Given the description of an element on the screen output the (x, y) to click on. 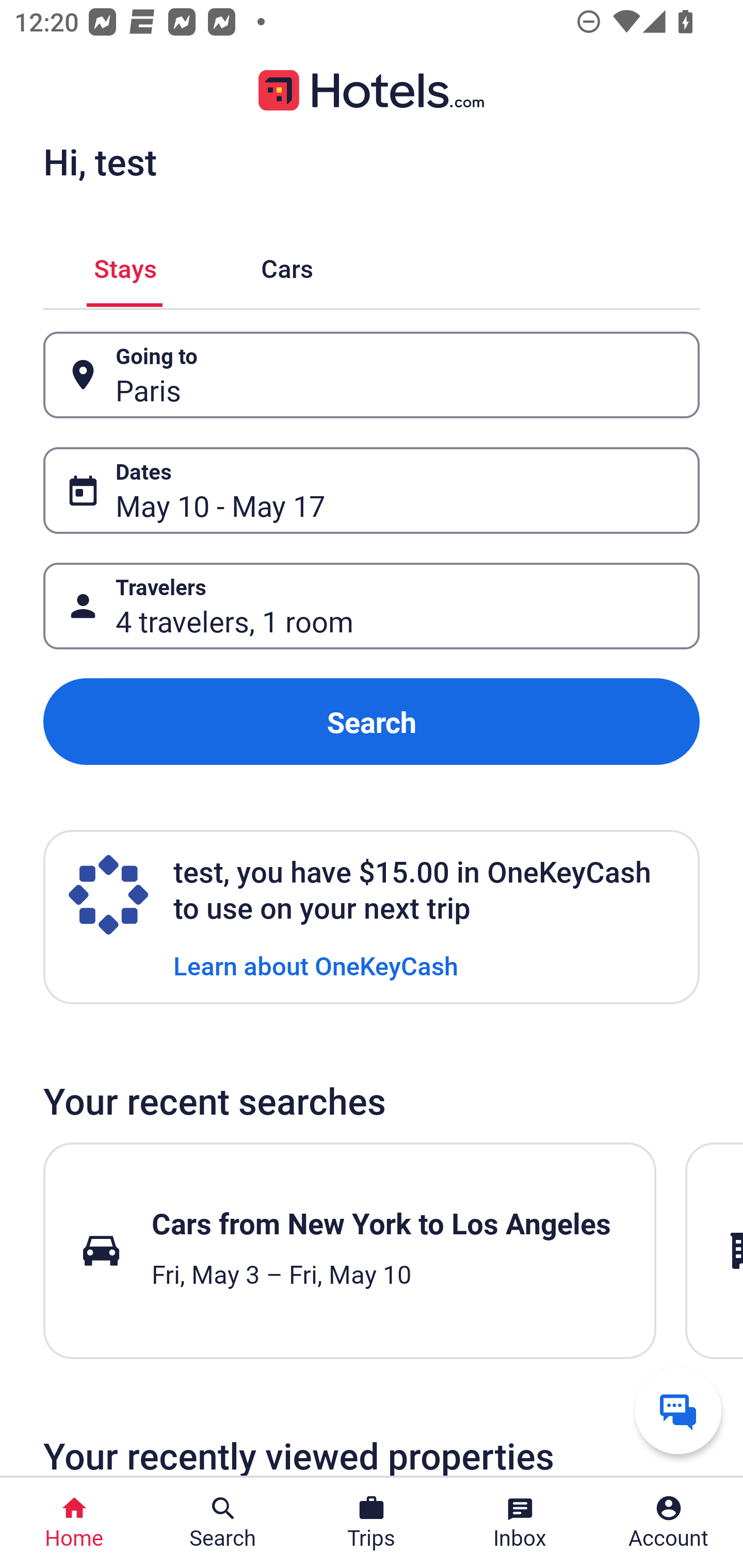
Hi, test (99, 161)
Cars (286, 265)
Going to Button Paris (371, 375)
Dates Button May 10 - May 17 (371, 489)
Travelers Button 4 travelers, 1 room (371, 605)
Search (371, 721)
Learn about OneKeyCash Learn about OneKeyCash Link (315, 964)
Get help from a virtual agent (677, 1410)
Search Search Button (222, 1522)
Trips Trips Button (371, 1522)
Inbox Inbox Button (519, 1522)
Account Profile. Button (668, 1522)
